Given the description of an element on the screen output the (x, y) to click on. 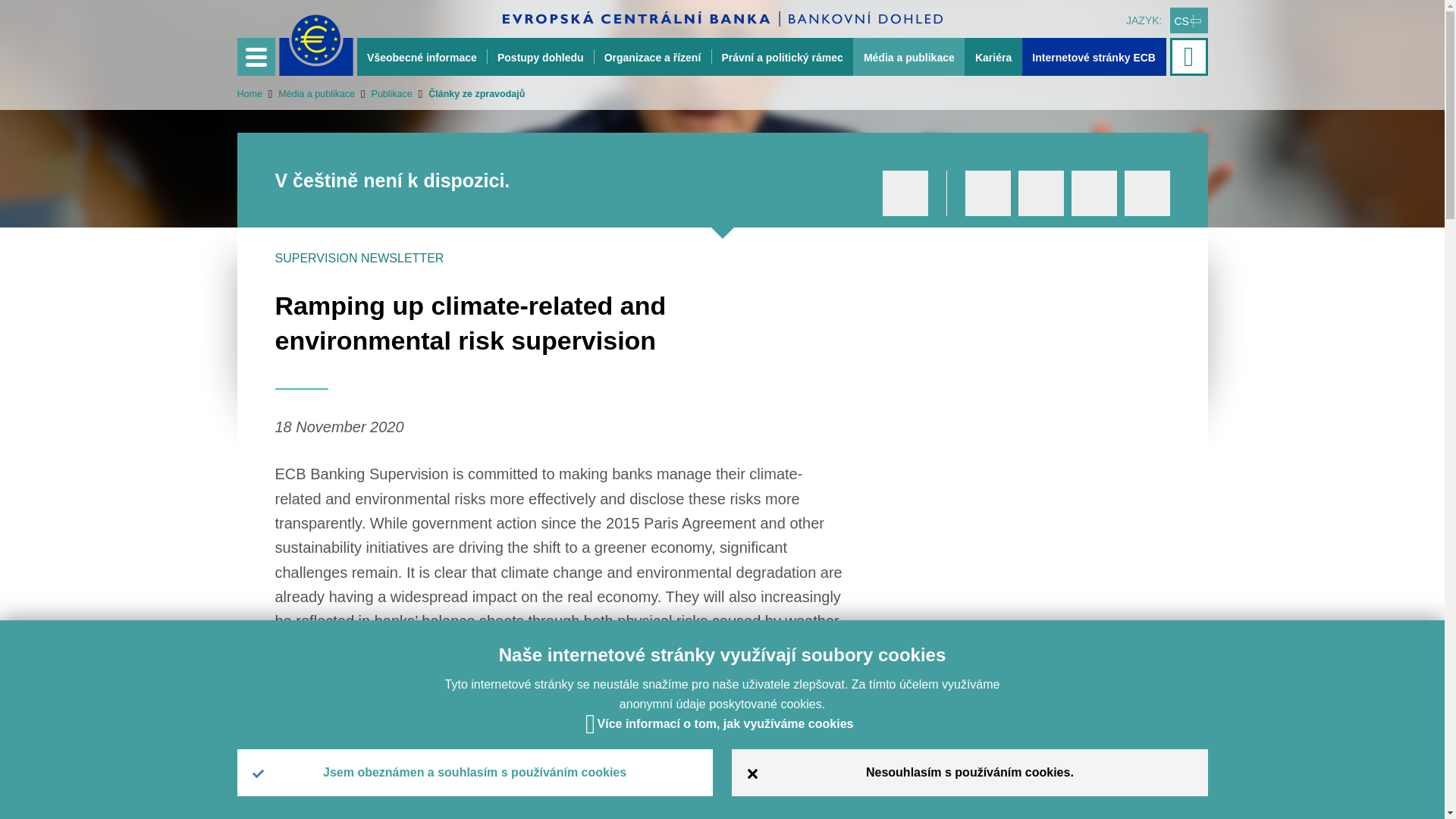
Search (1190, 56)
Home (248, 93)
Postupy dohledu (540, 56)
Publikace (383, 93)
Menu (255, 56)
